Given the description of an element on the screen output the (x, y) to click on. 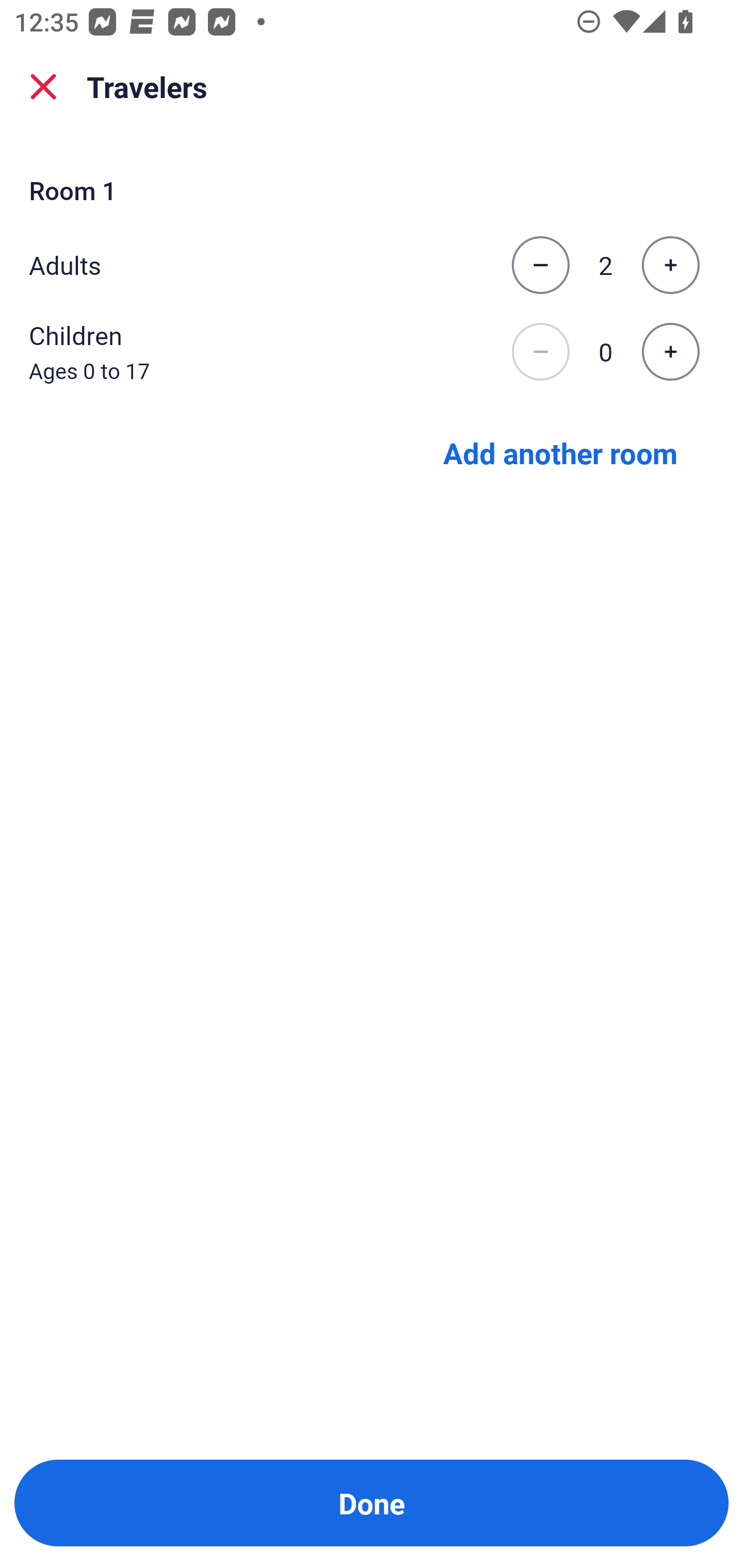
close (43, 86)
Decrease the number of adults (540, 264)
Increase the number of adults (670, 264)
Decrease the number of children (540, 351)
Increase the number of children (670, 351)
Add another room (560, 452)
Done (371, 1502)
